Given the description of an element on the screen output the (x, y) to click on. 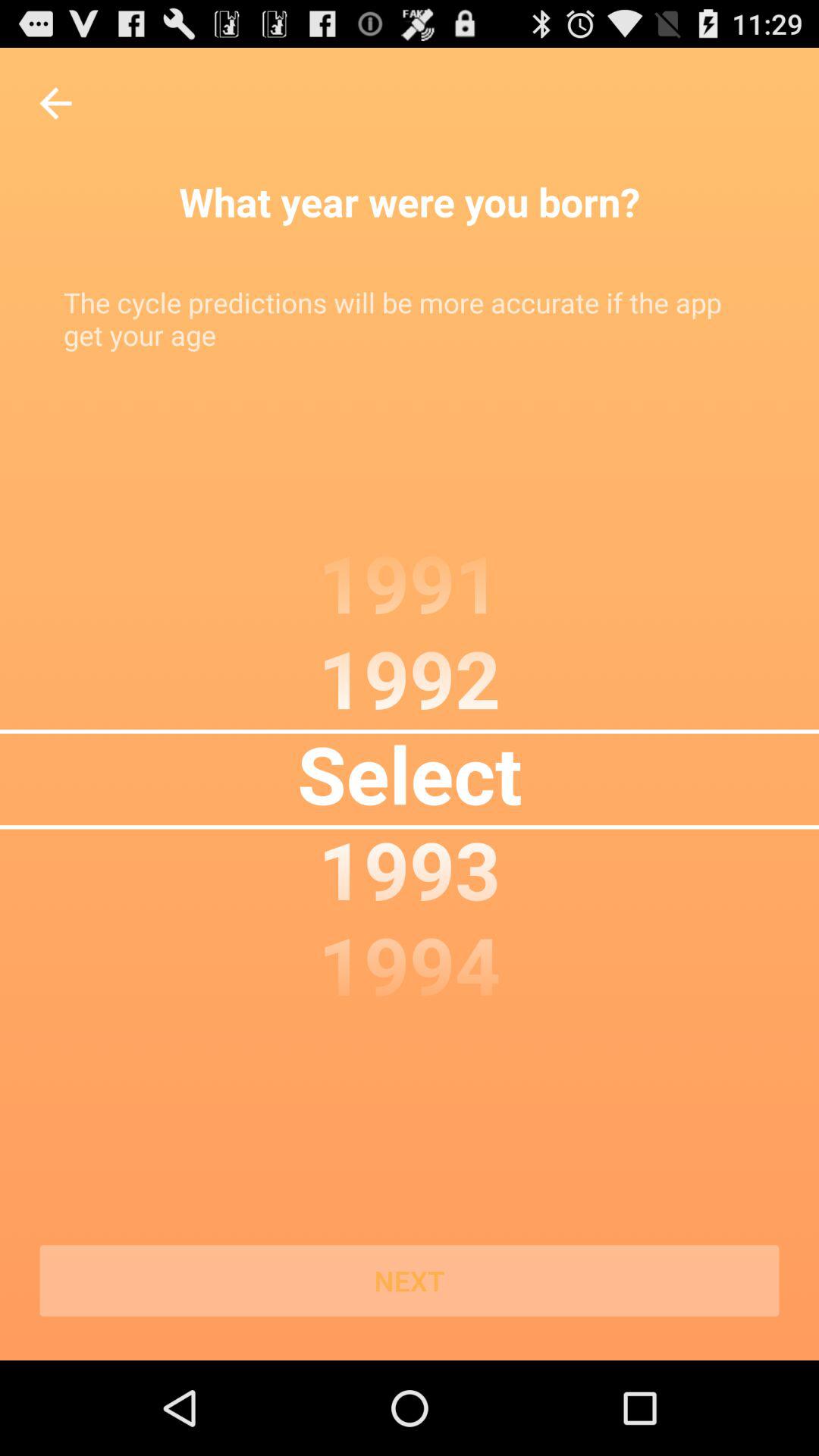
turn off icon above what year were item (55, 103)
